Given the description of an element on the screen output the (x, y) to click on. 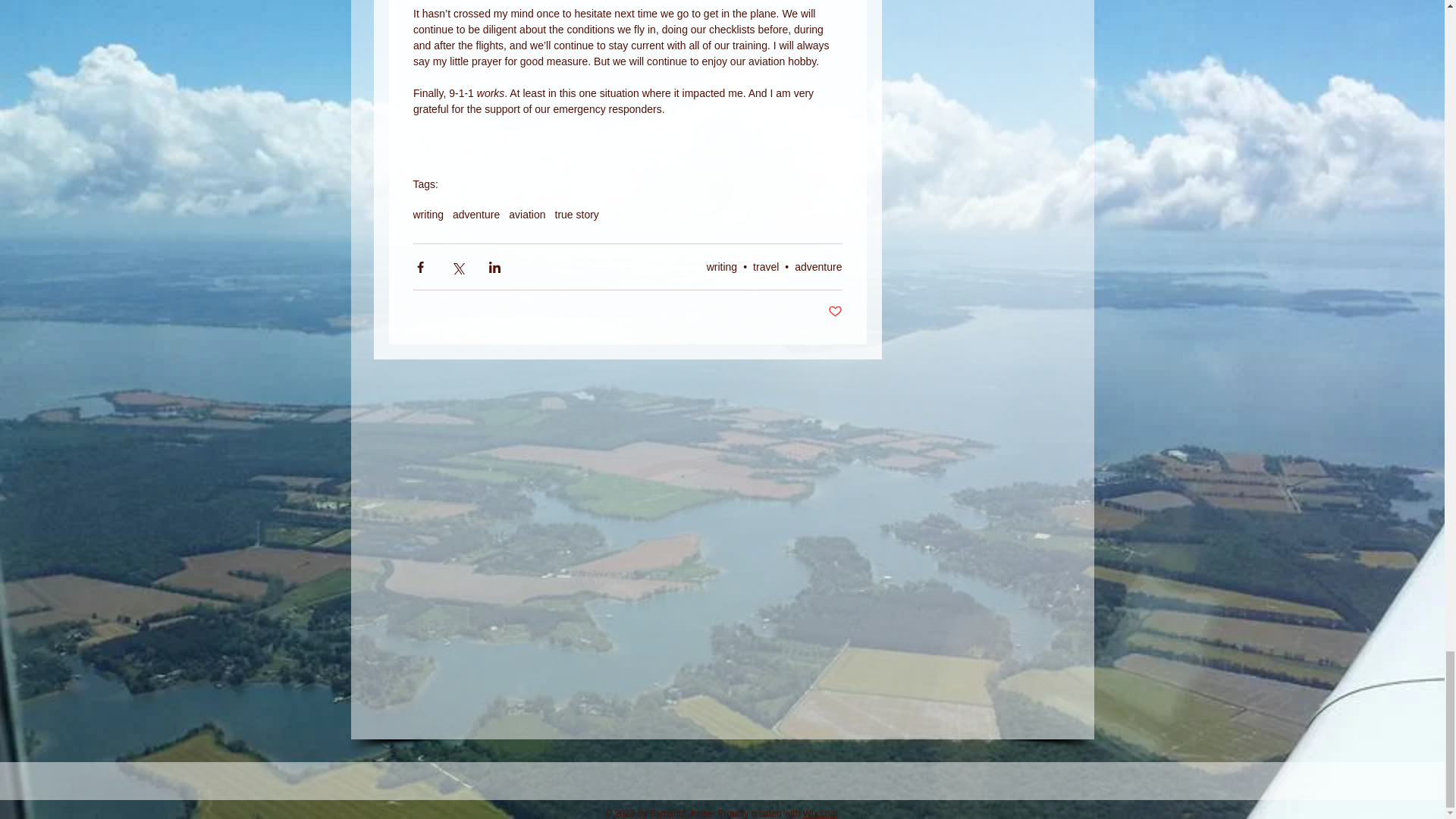
writing (427, 214)
travel (765, 266)
aviation (526, 214)
Post not marked as liked (835, 311)
adventure (817, 266)
writing (721, 266)
adventure (475, 214)
true story (576, 214)
